Given the description of an element on the screen output the (x, y) to click on. 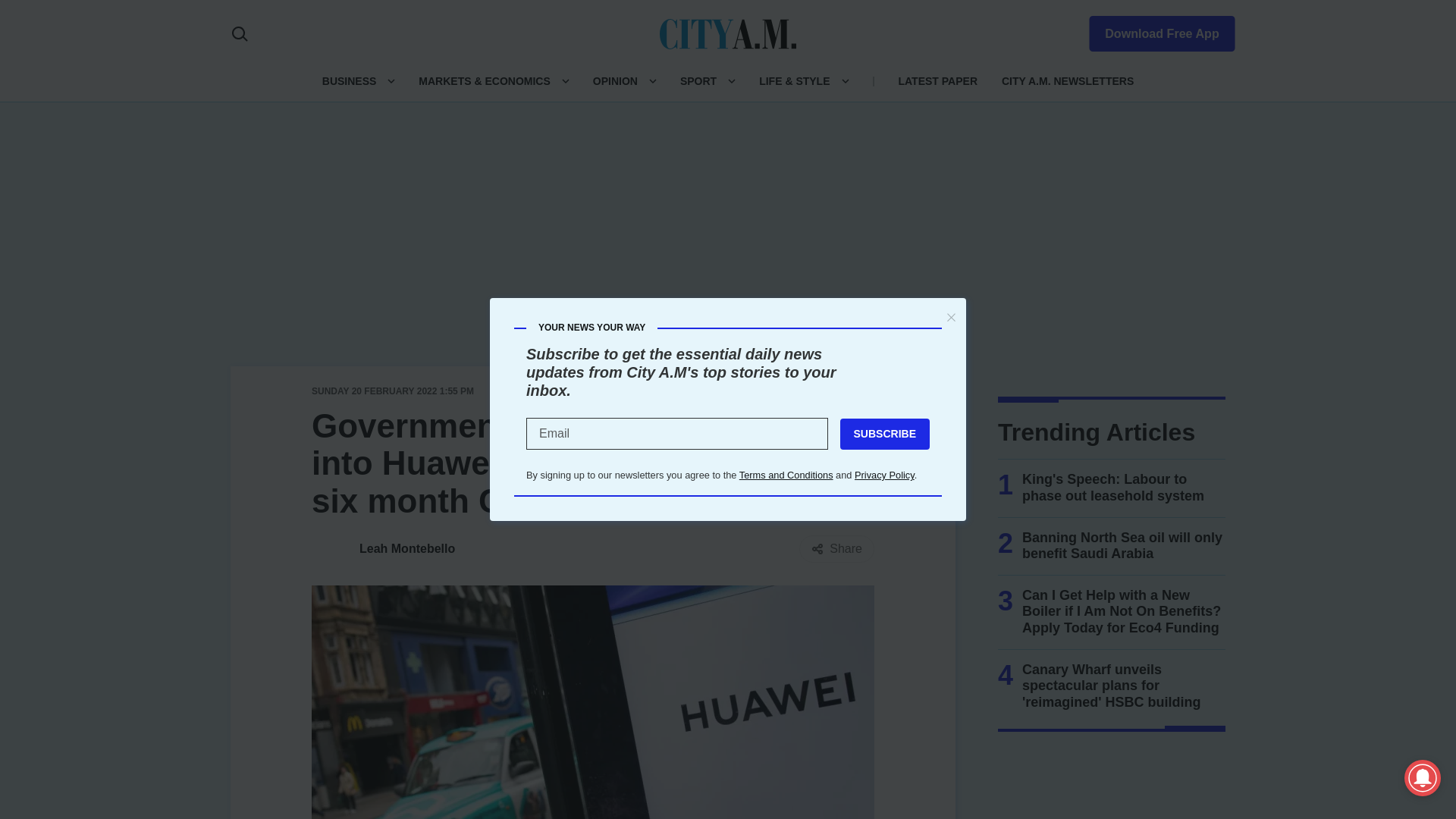
CityAM (727, 33)
BUSINESS (349, 80)
Download Free App (1152, 30)
